Given the description of an element on the screen output the (x, y) to click on. 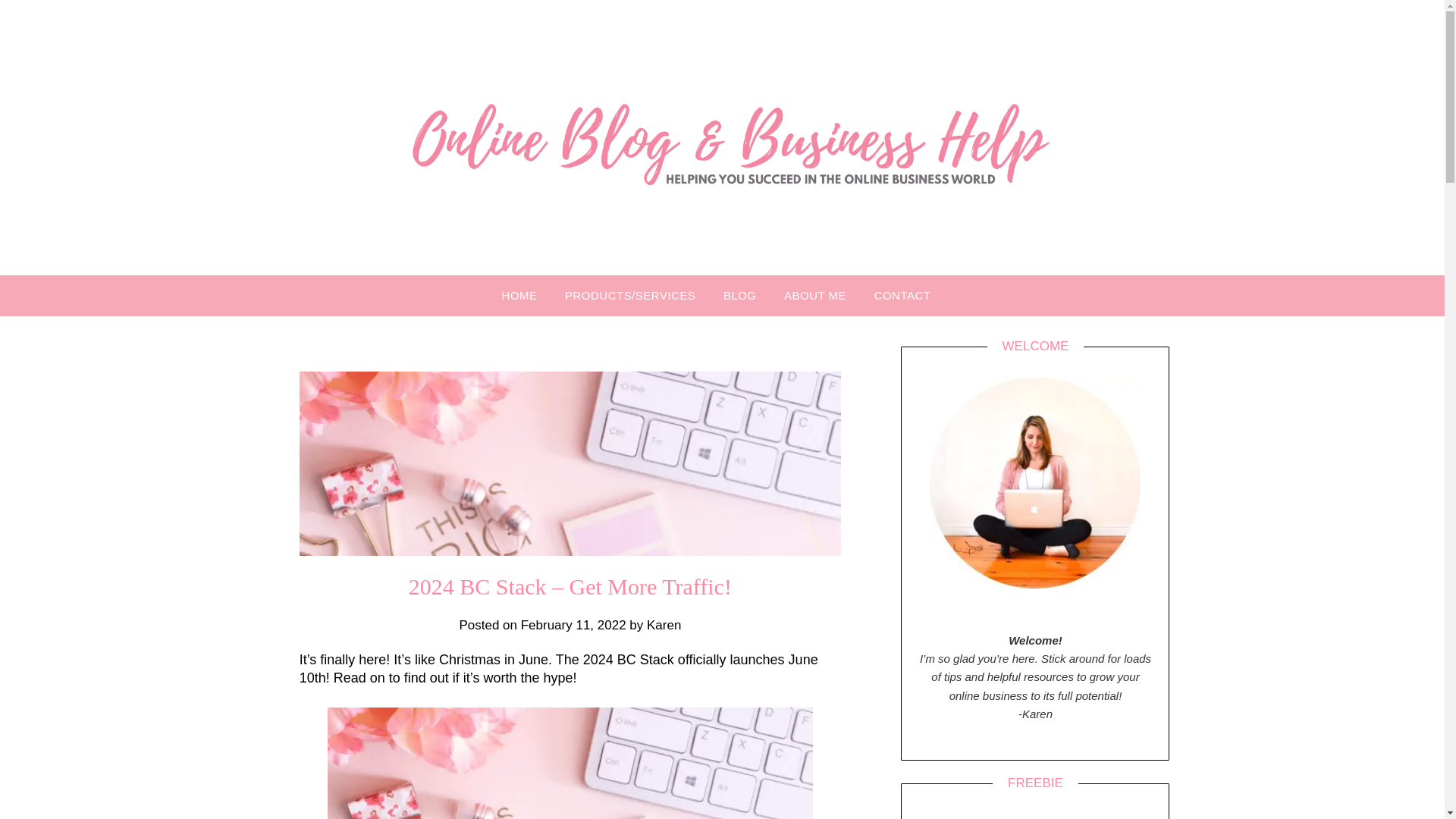
BLOG (739, 295)
HOME (526, 295)
February 11, 2022 (573, 625)
CONTACT (902, 295)
Karen (663, 625)
Search (38, 22)
ABOUT ME (815, 295)
